Given the description of an element on the screen output the (x, y) to click on. 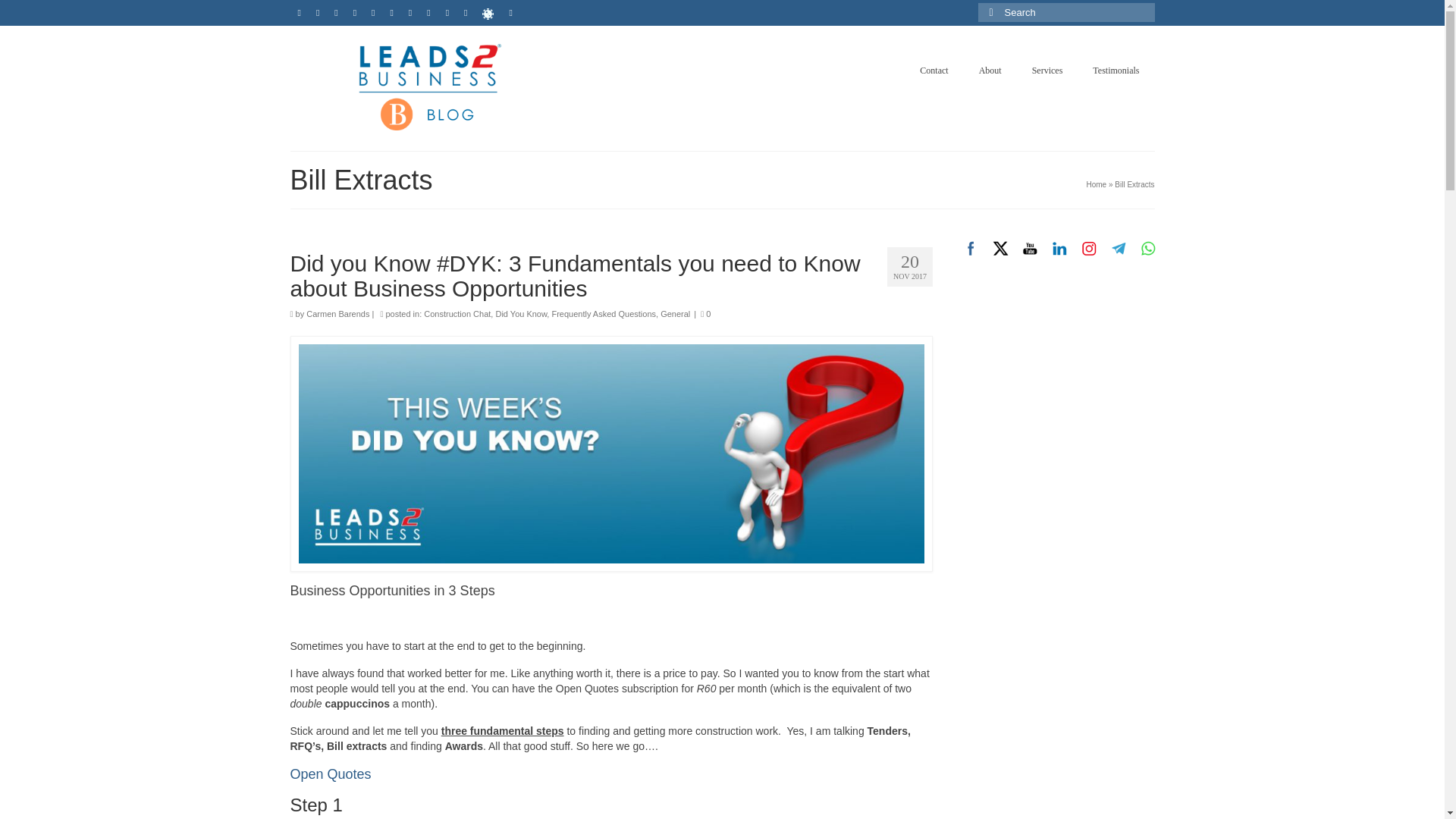
LinkedIn (1059, 248)
Twitter (1000, 248)
Leads 2 Business Blog (428, 85)
Facebook (971, 248)
Frequently Asked Questions (603, 313)
0 (705, 313)
Contact (933, 70)
Did You Know (521, 313)
Services (1047, 70)
About (989, 70)
YouTube (1029, 248)
Instagram (1088, 248)
Home (1096, 184)
Testimonials (1115, 70)
Open Quotes (330, 774)
